Given the description of an element on the screen output the (x, y) to click on. 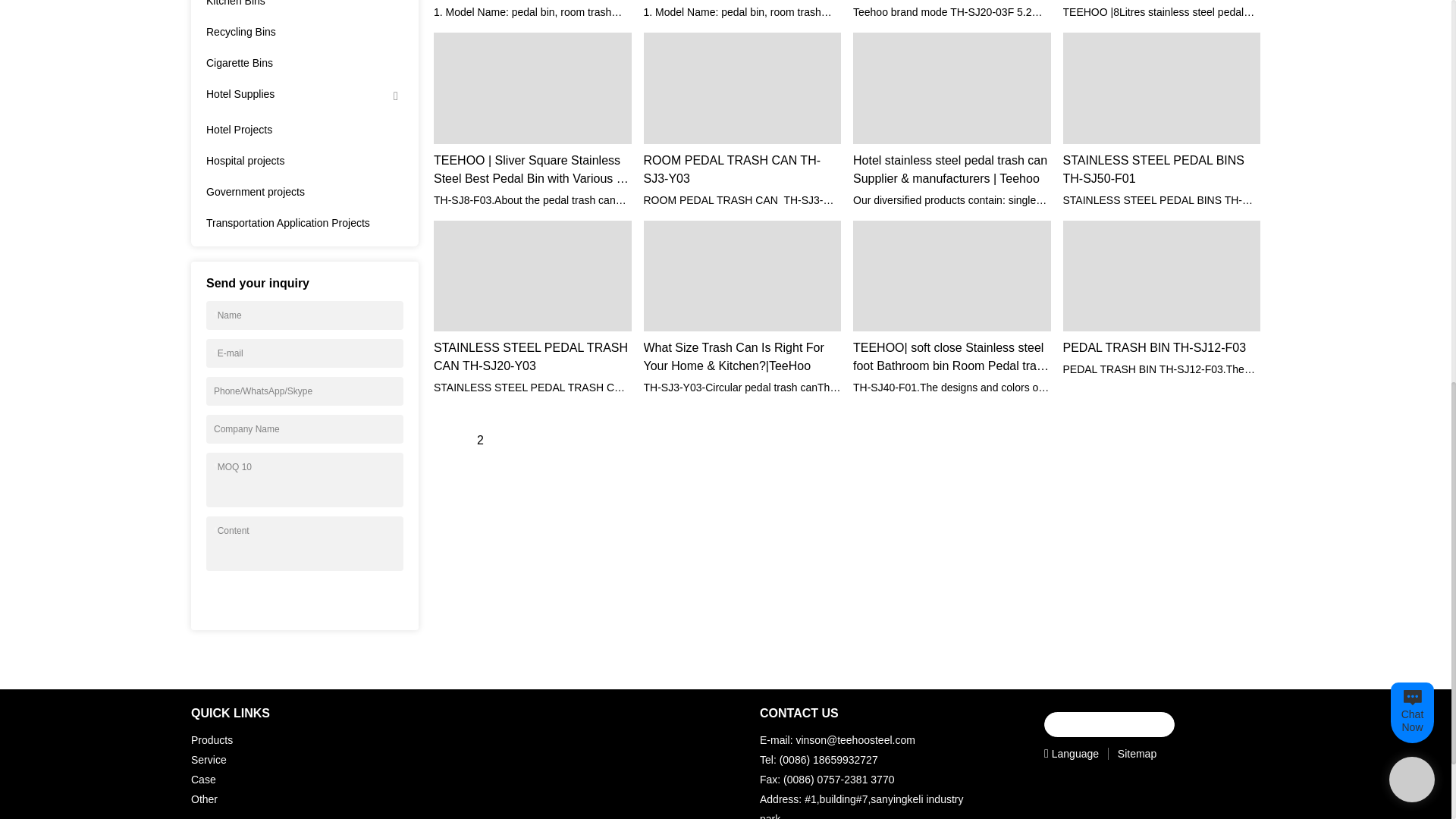
ROOM PEDAL TRASH CAN  TH-SJ3-Y03 (742, 169)
